Given the description of an element on the screen output the (x, y) to click on. 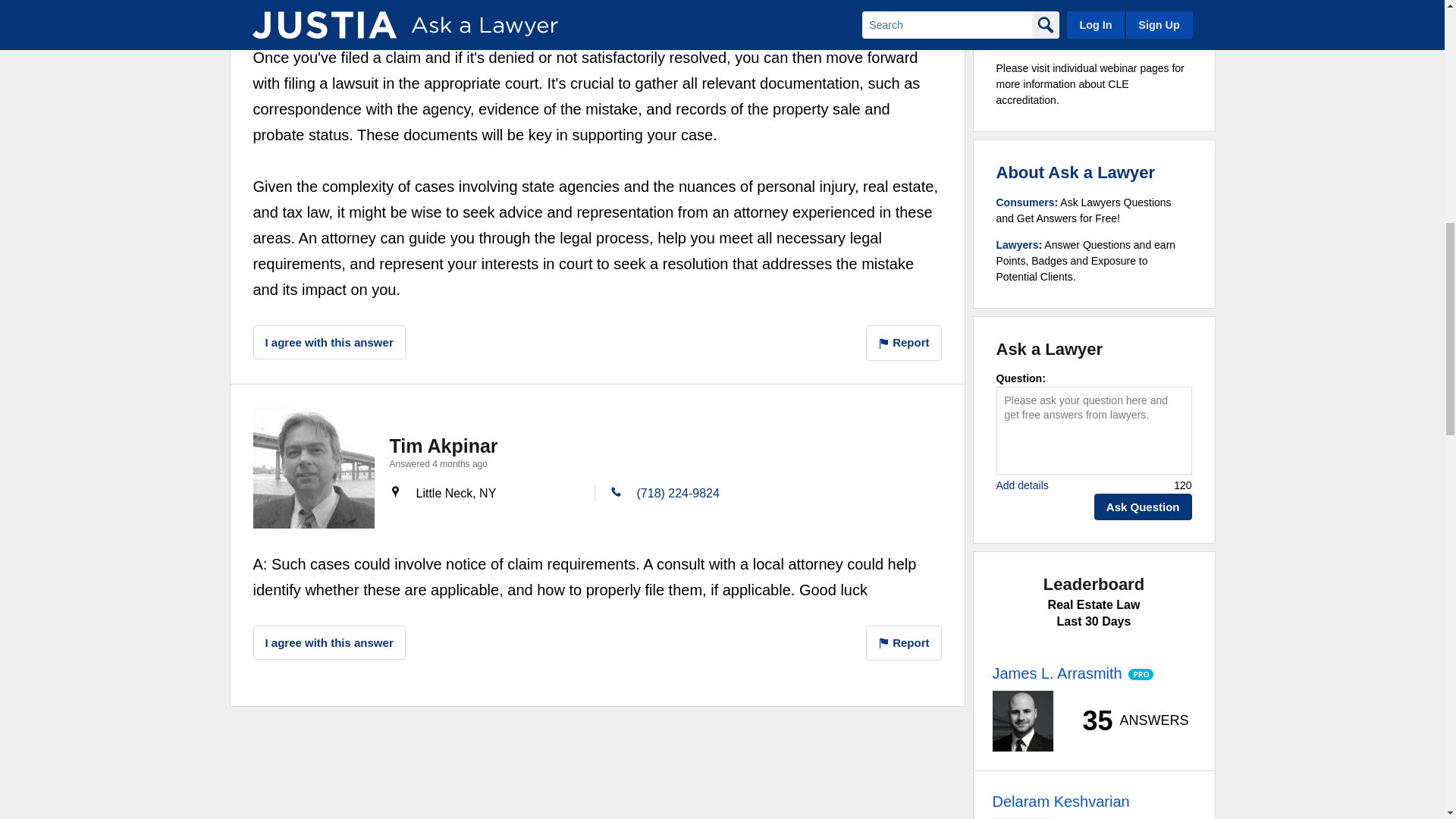
Ask a Lawyer - Leaderboard - Lawyer Photo (1021, 721)
Ask a Lawyer - FAQs - Lawyers (1017, 244)
Ask a Lawyer - Leaderboard - Lawyer Name (1056, 672)
Ask a Lawyer - Leaderboard - Lawyer Stats (1127, 720)
Tim Akpinar (313, 467)
Ask a Lawyer - Leaderboard - Lawyer Name (1060, 801)
Ask a Lawyer - FAQs - Consumers (1024, 202)
